Given the description of an element on the screen output the (x, y) to click on. 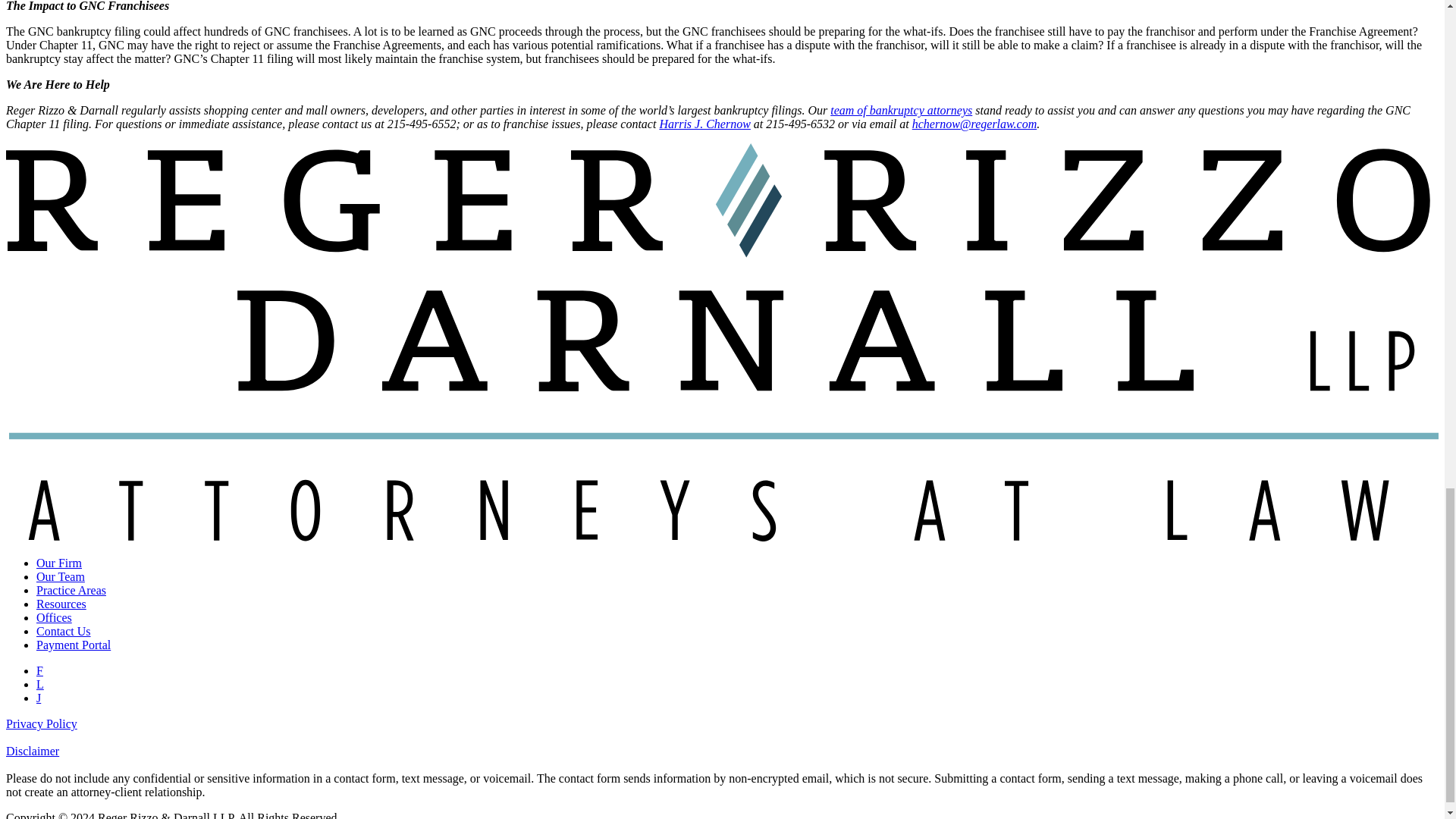
Practice Areas (71, 590)
team of bankruptcy attorneys (900, 110)
Our Firm (58, 562)
Our Team (60, 576)
Harris J. Chernow (704, 123)
